Given the description of an element on the screen output the (x, y) to click on. 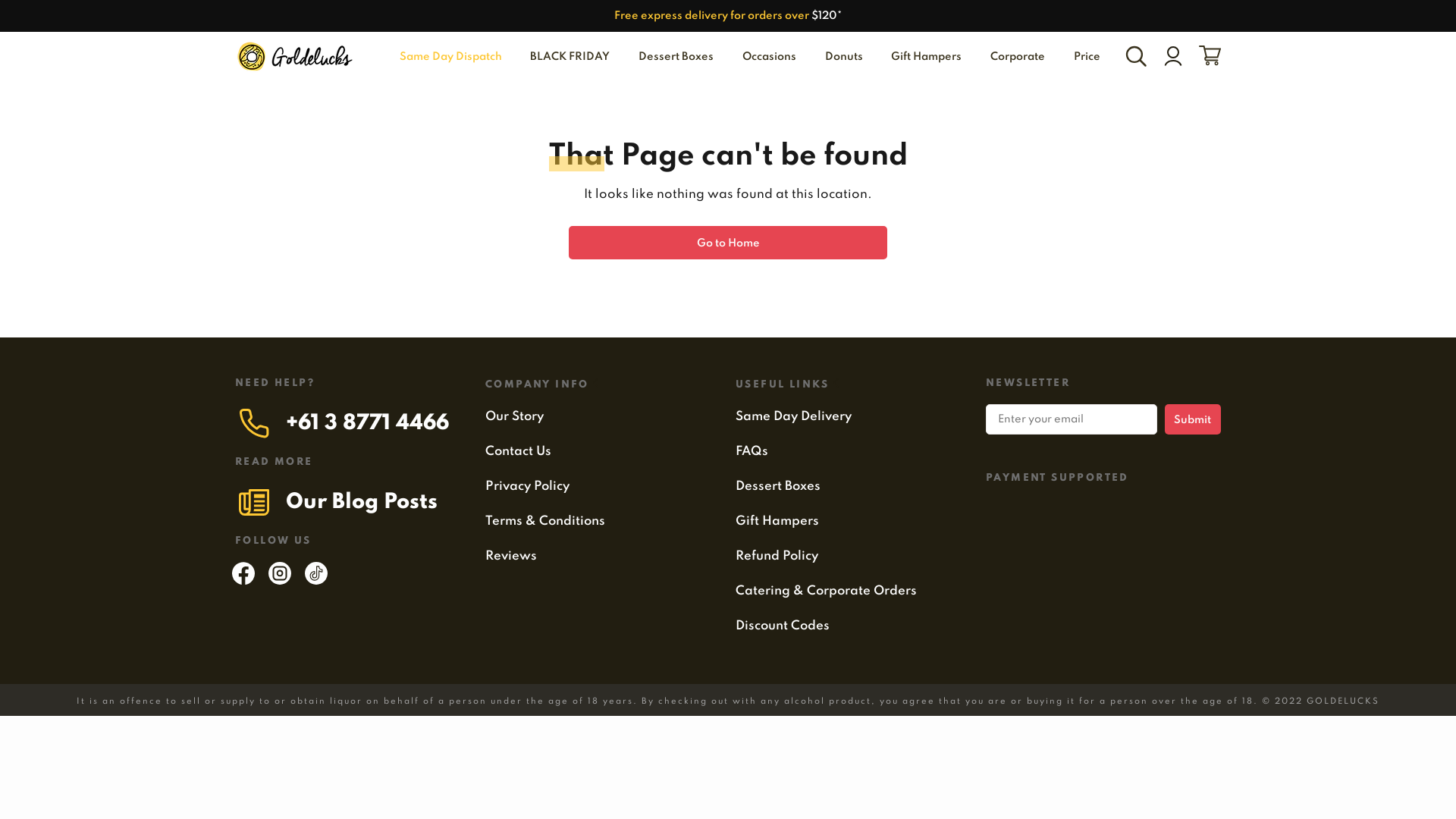
Terms & Conditions Element type: text (545, 520)
Occasions Element type: text (769, 56)
Privacy Policy Element type: text (527, 485)
Catering & Corporate Orders Element type: text (825, 590)
Same Day Delivery Element type: text (793, 415)
Contact Us Element type: text (518, 450)
Dessert Boxes Element type: text (675, 56)
Reviews Element type: text (510, 555)
Donuts Element type: text (844, 56)
Gift Hampers Element type: text (925, 56)
+61 3 8771 4466 Element type: text (366, 422)
Gift Hampers Element type: text (777, 520)
BLACK FRIDAY Element type: text (569, 56)
Our Blog Posts Element type: text (361, 501)
Go to Home Element type: text (727, 242)
Refund Policy Element type: text (776, 555)
Same Day Dispatch Element type: text (449, 56)
Submit Element type: text (1192, 419)
Discount Codes Element type: text (782, 625)
Our Story Element type: text (514, 415)
Corporate Element type: text (1017, 56)
Dessert Boxes Element type: text (777, 485)
Price Element type: text (1083, 56)
FAQs Element type: text (751, 450)
